Given the description of an element on the screen output the (x, y) to click on. 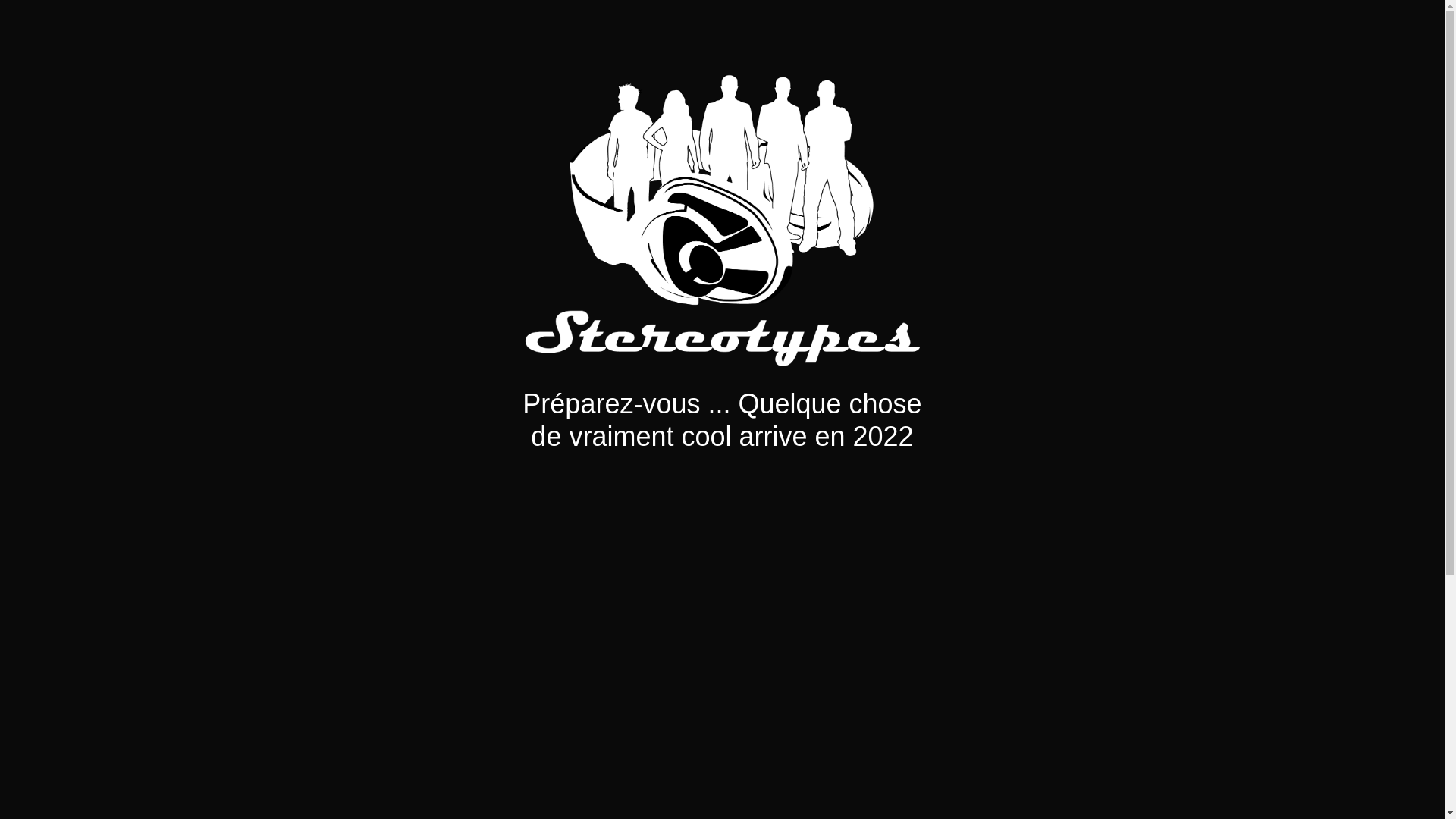
YouTube video player Element type: hover (729, 586)
